Given the description of an element on the screen output the (x, y) to click on. 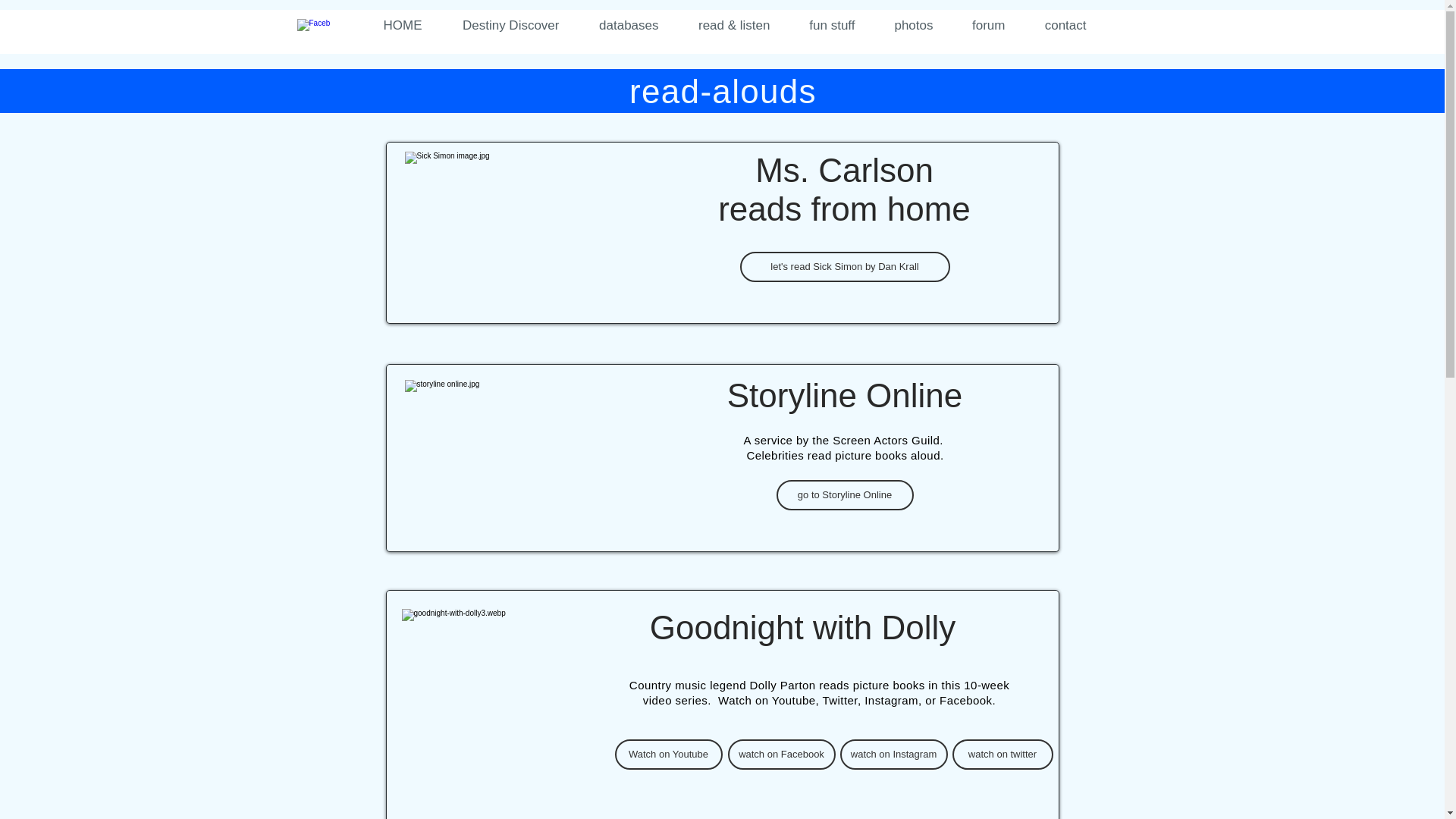
go to Storyline Online (845, 494)
watch on Instagram (893, 754)
databases (616, 25)
forum (975, 25)
photos (901, 25)
fun stuff (820, 25)
watch on Facebook (781, 754)
watch on twitter (1002, 754)
let's read Sick Simon by Dan Krall (844, 266)
Destiny Discover (497, 25)
